Given the description of an element on the screen output the (x, y) to click on. 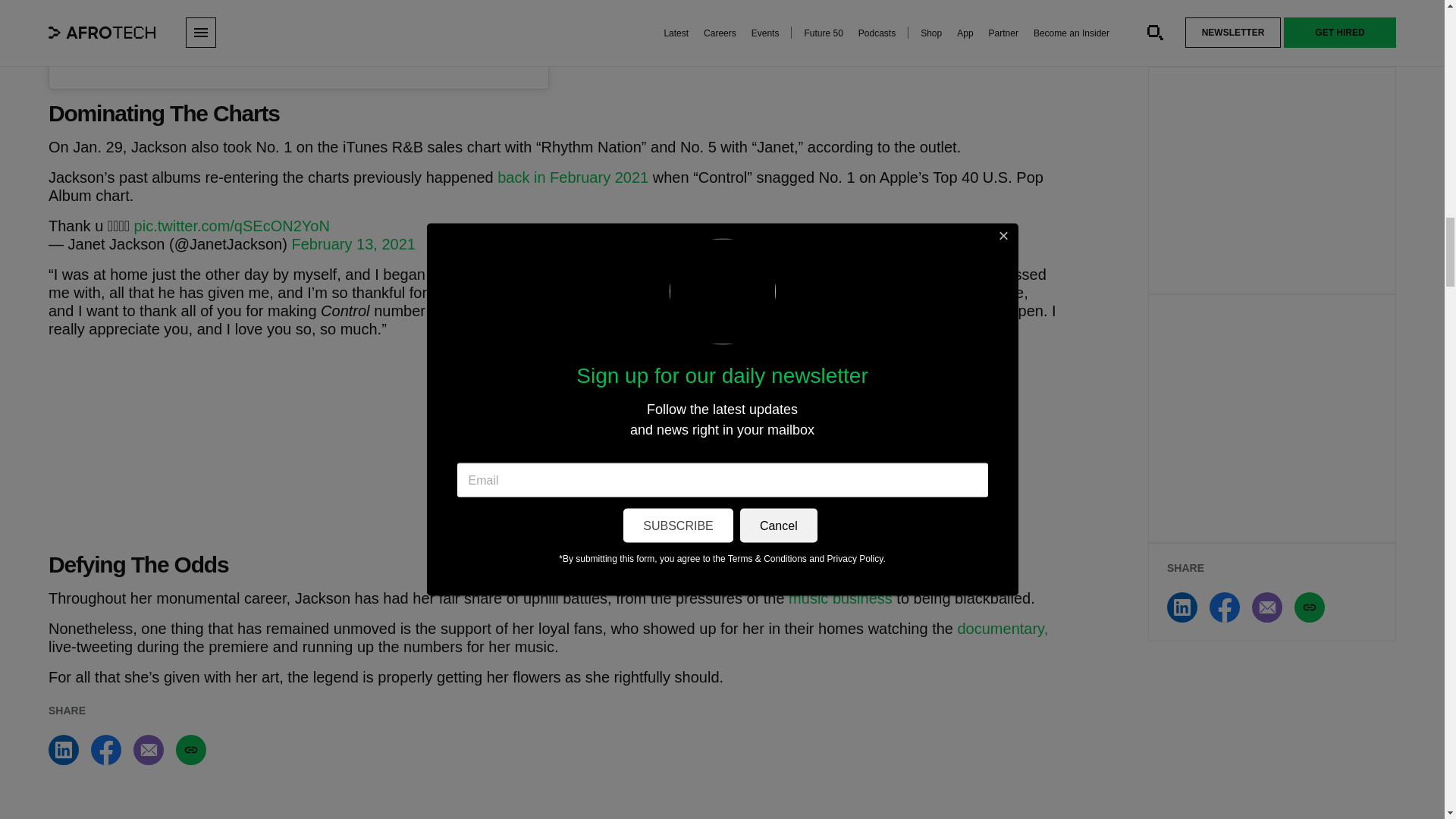
back in February 2021 (572, 176)
February 13, 2021 (352, 243)
music business (840, 597)
documentary, (1002, 628)
